Given the description of an element on the screen output the (x, y) to click on. 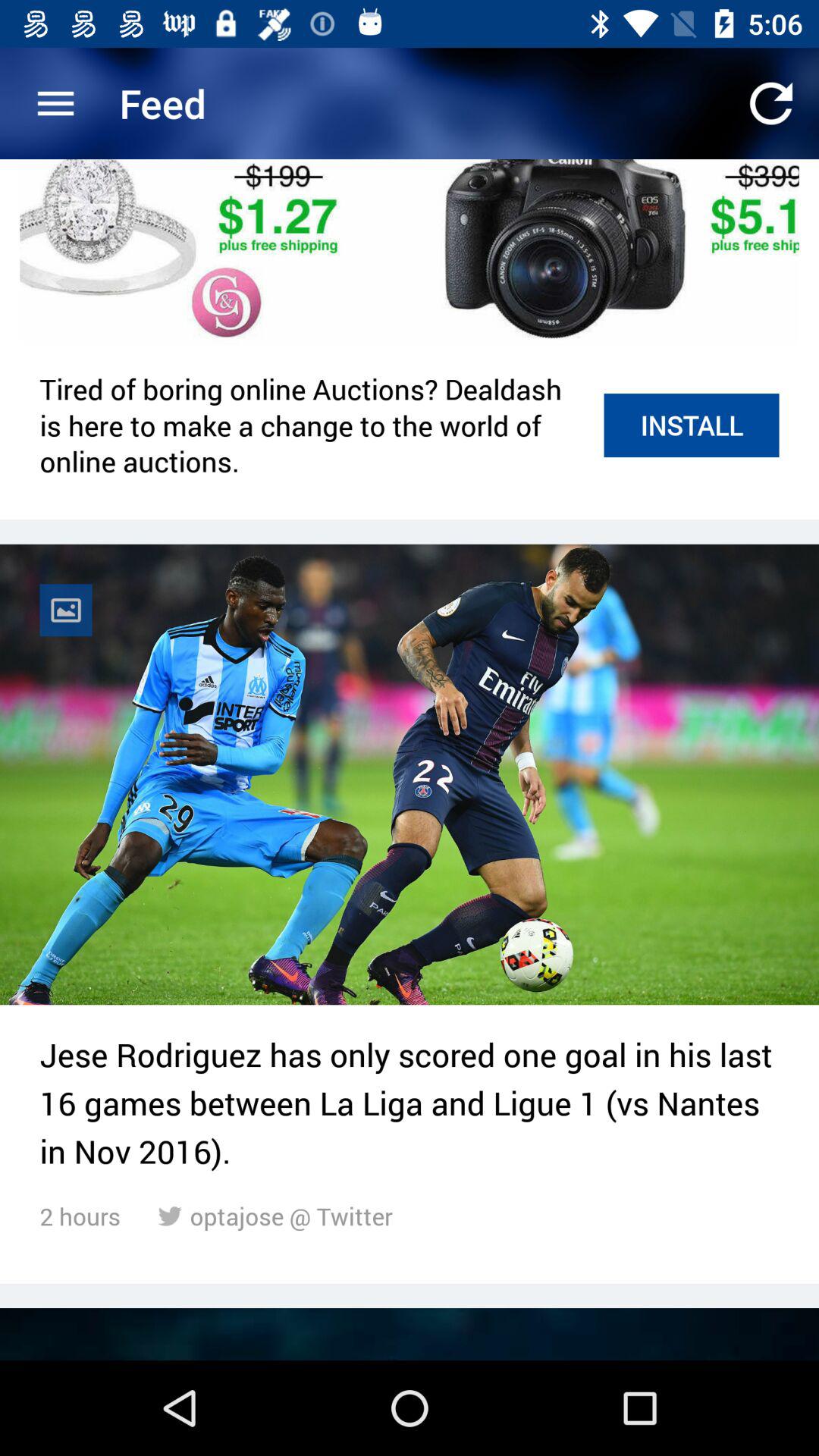
tap the item to the left of install item (313, 425)
